Given the description of an element on the screen output the (x, y) to click on. 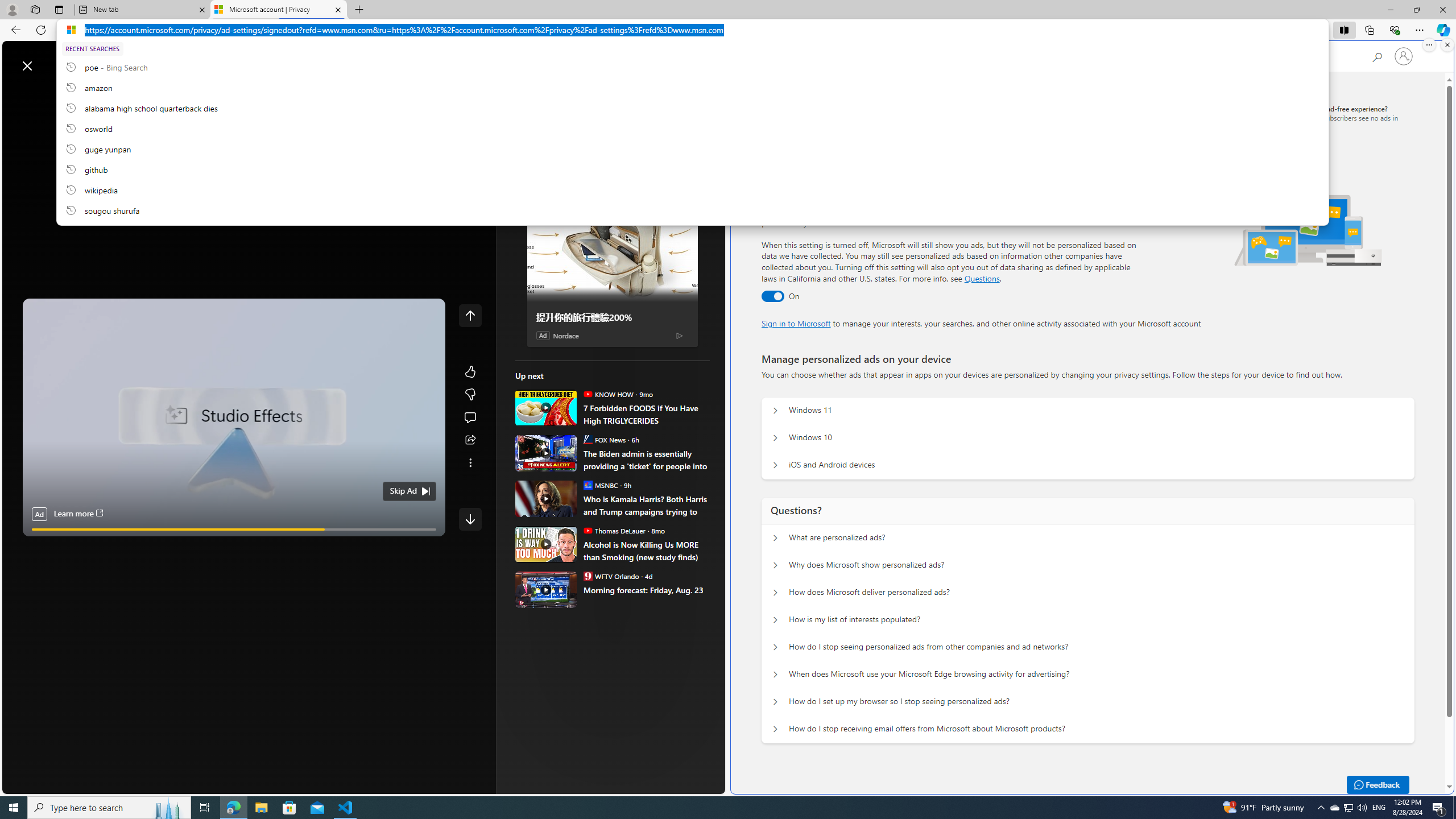
sougou shurufa, recent searches from history (691, 209)
Unmute (430, 543)
Questions? How does Microsoft deliver personalized ads? (775, 592)
Thomas DeLauer Thomas DeLauer (613, 529)
Manage personalized ads on your device Windows 10 (775, 437)
